Given the description of an element on the screen output the (x, y) to click on. 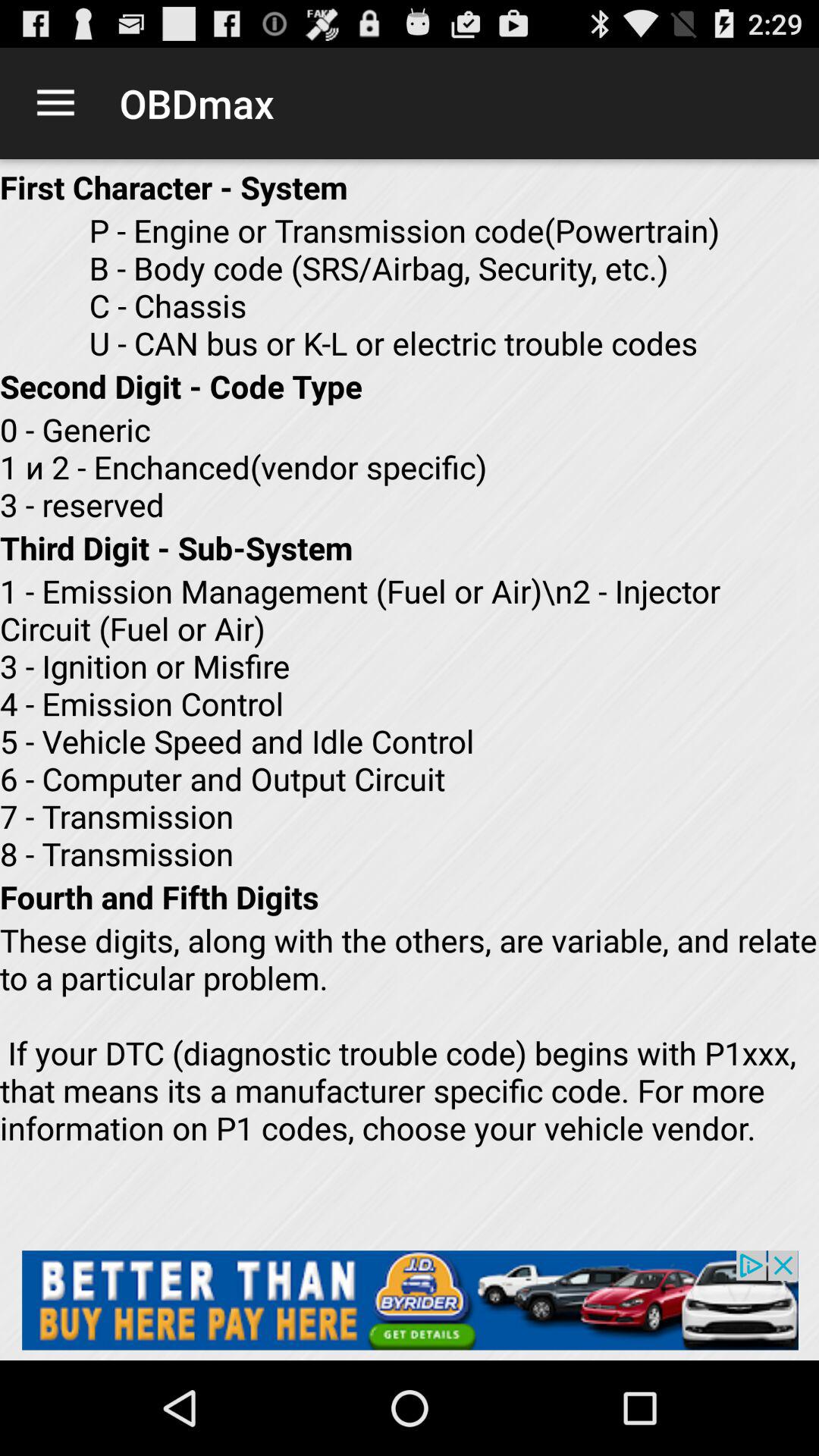
add option (409, 1300)
